Given the description of an element on the screen output the (x, y) to click on. 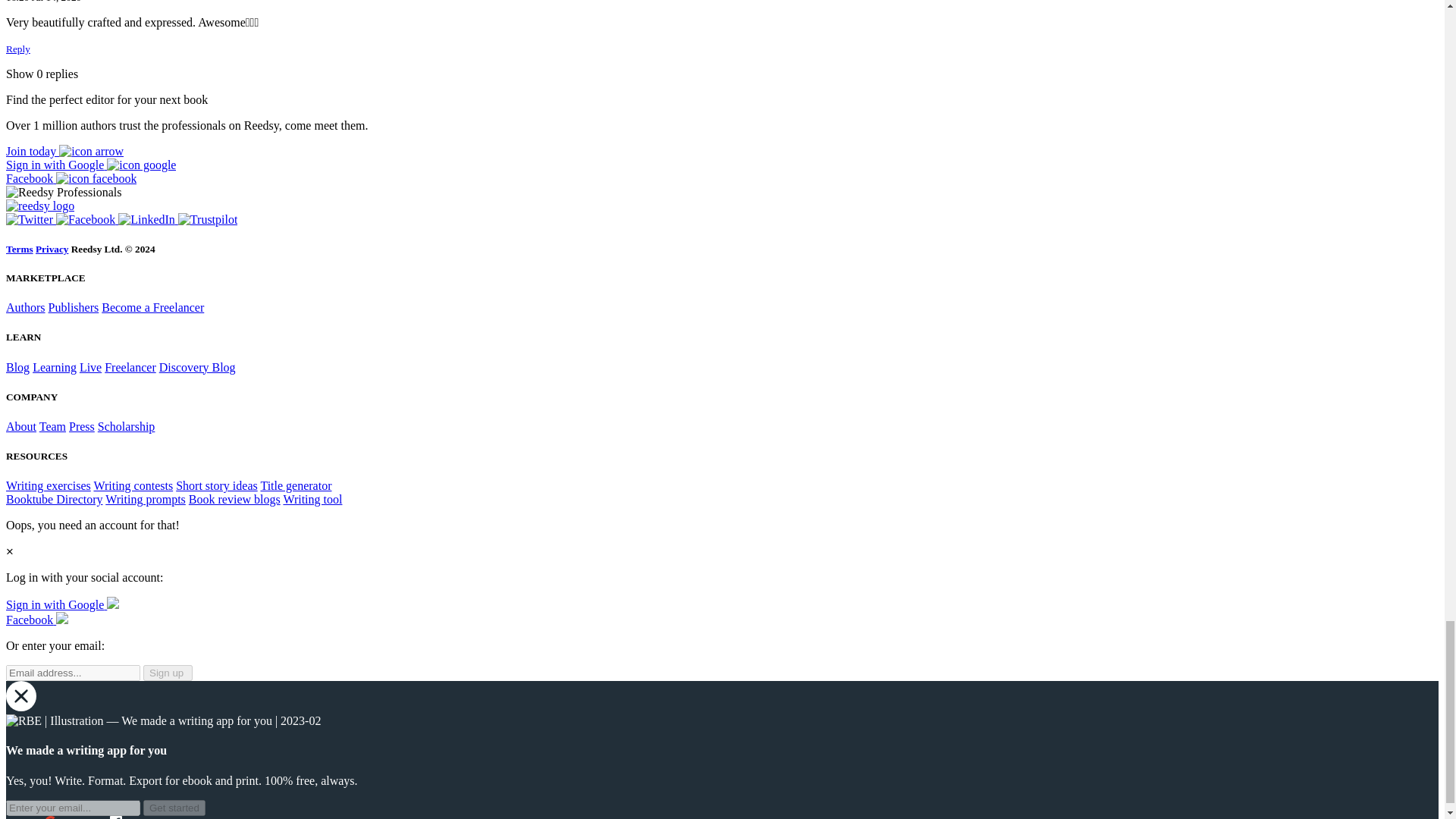
LinkedIn (147, 219)
Sign up  (167, 672)
Sign in with Google (90, 164)
Sign up (64, 151)
Sign in with Facebook (70, 178)
Twitter (30, 219)
Sign in with Google (62, 604)
Get started (173, 807)
Facebook (86, 219)
Sign in with Facebook (36, 619)
